Given the description of an element on the screen output the (x, y) to click on. 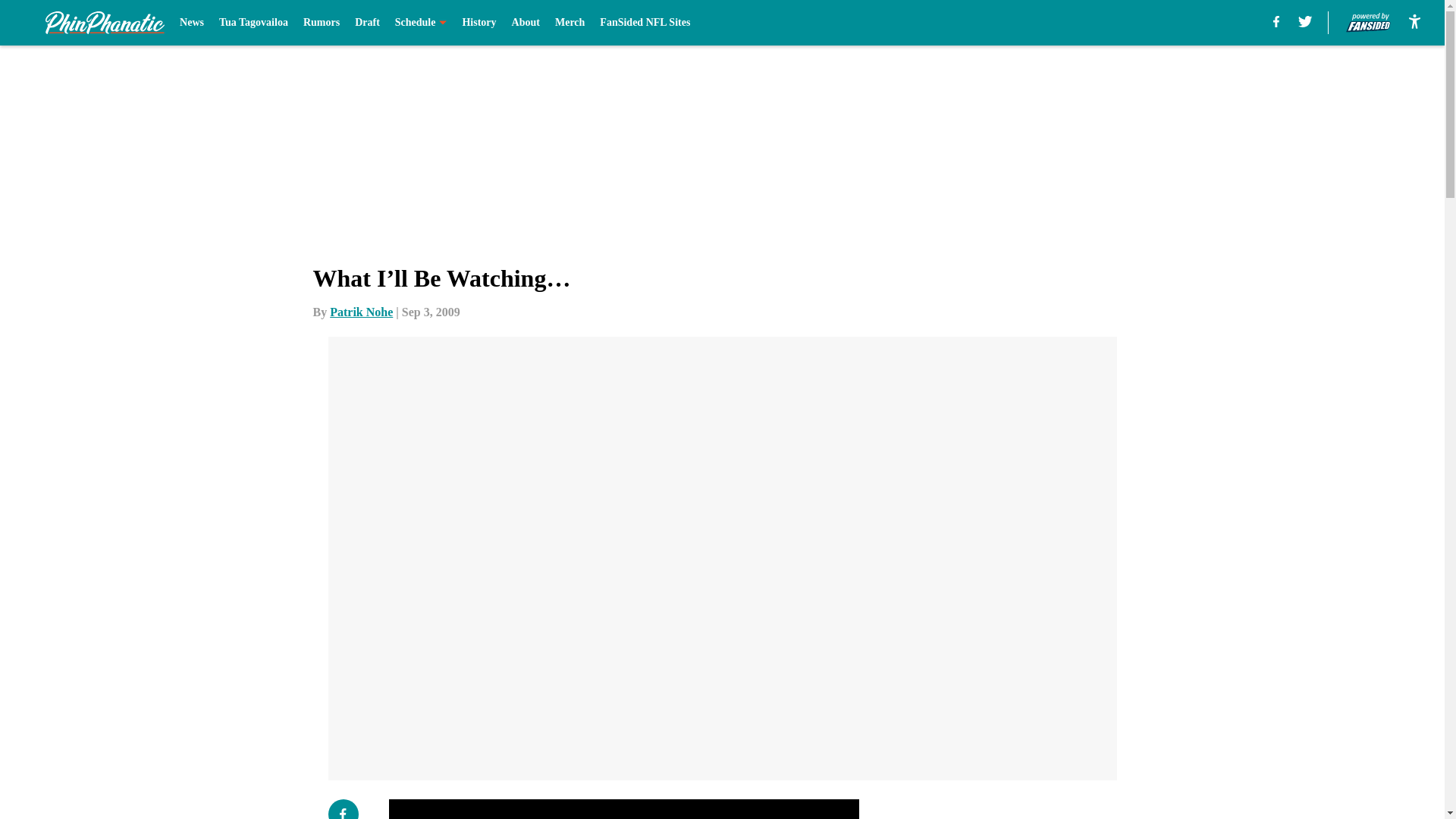
About (526, 22)
Rumors (320, 22)
Merch (569, 22)
FanSided NFL Sites (644, 22)
History (478, 22)
Patrik Nohe (361, 311)
Tua Tagovailoa (253, 22)
News (191, 22)
Draft (367, 22)
